Given the description of an element on the screen output the (x, y) to click on. 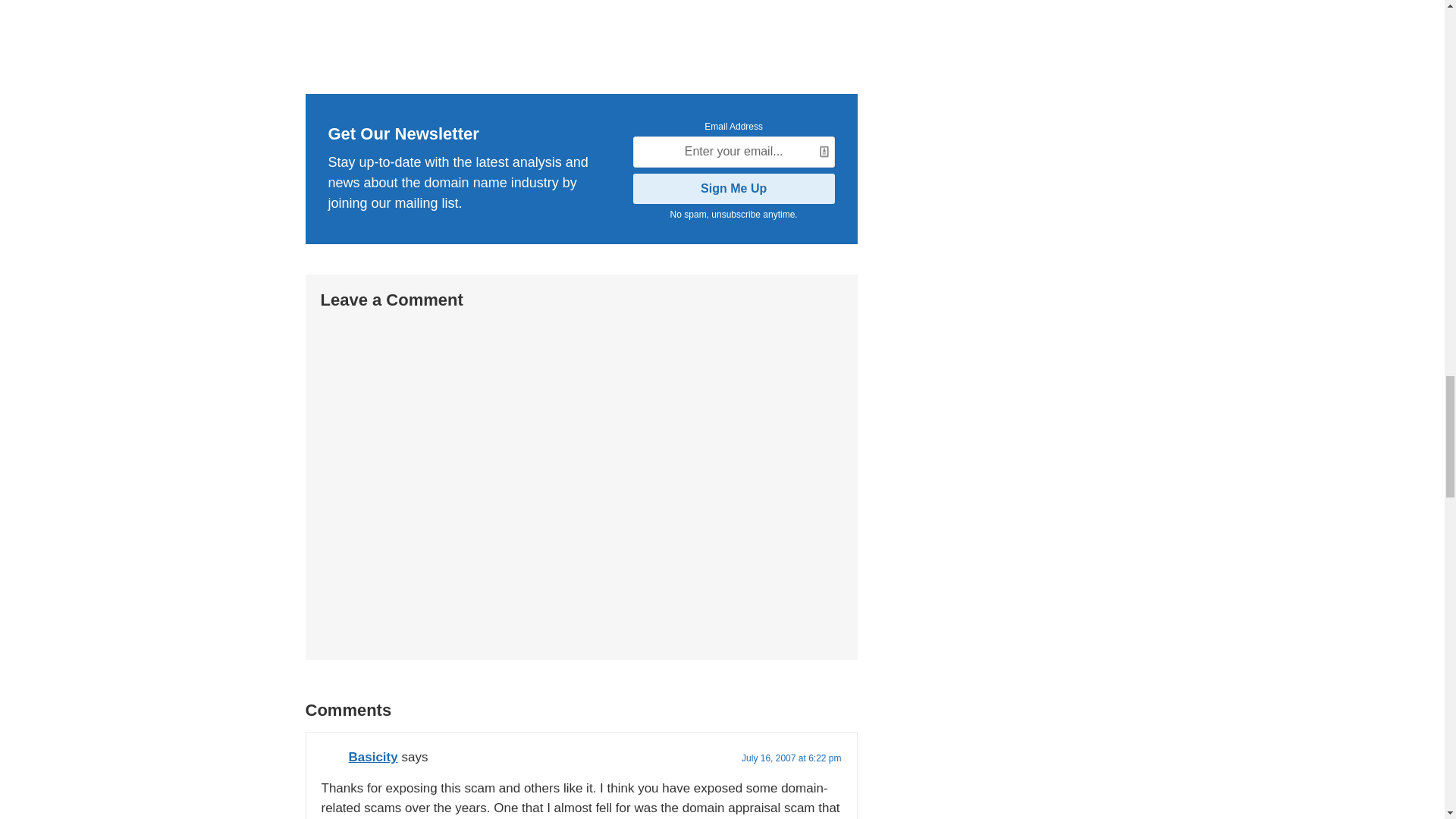
Sign Me Up (733, 188)
